Given the description of an element on the screen output the (x, y) to click on. 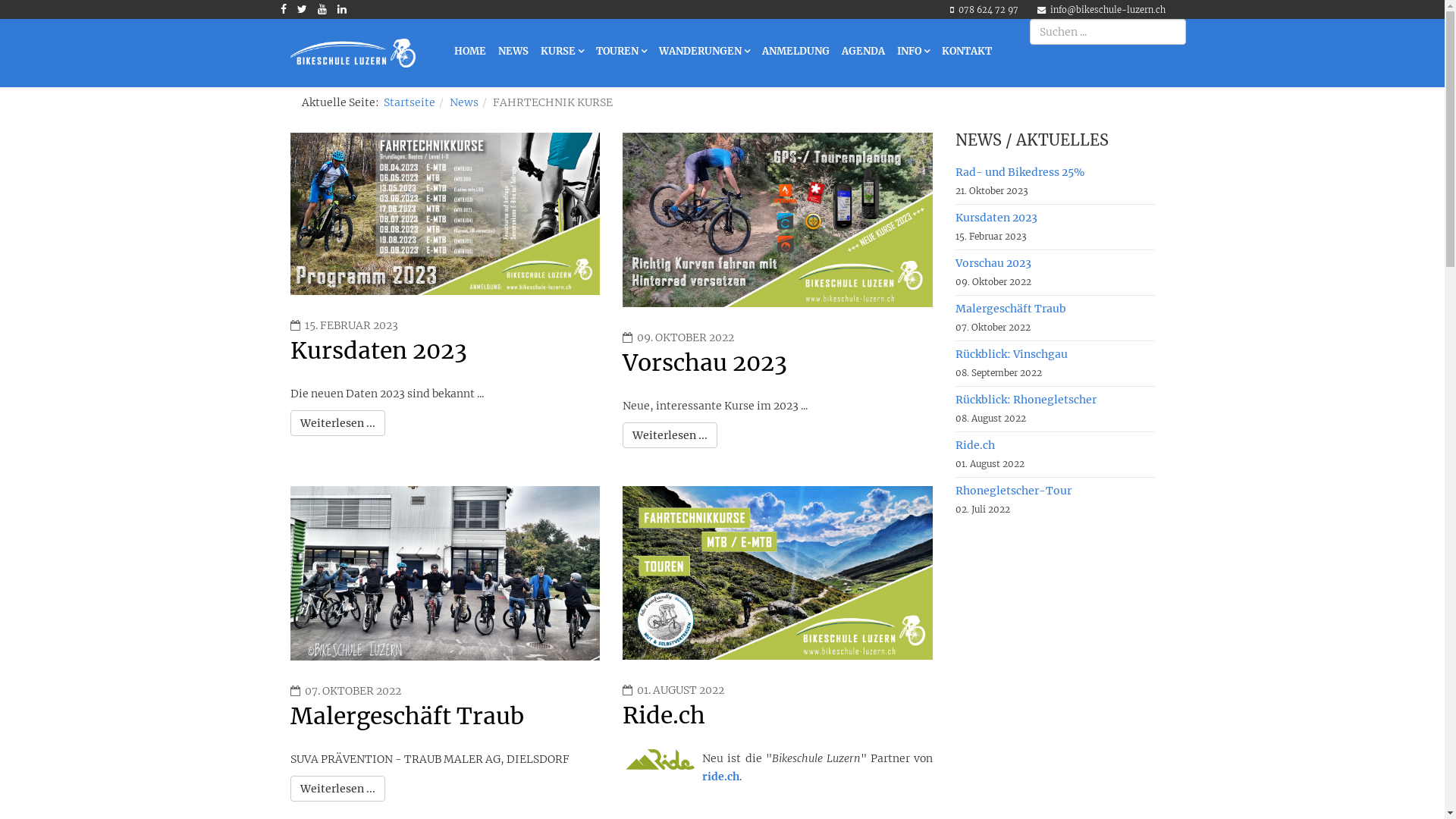
Startseite Element type: text (409, 102)
Weiterlesen ... Element type: text (336, 423)
Ride.ch Element type: text (663, 714)
Rhonegletscher-Tour Element type: text (1054, 490)
Kursdaten 2023 Element type: text (377, 349)
ride.ch Element type: text (720, 776)
KURSE Element type: text (561, 51)
Vorschau 2023 Element type: text (704, 362)
Ride.ch Element type: text (1054, 445)
ANMELDUNG Element type: text (794, 51)
info@bikeschule-luzern.ch Element type: text (1106, 9)
Rad- und Bikedress 25% Element type: text (1054, 172)
Kursdaten 2023 Element type: text (1054, 217)
INFO Element type: text (912, 51)
NEWS Element type: text (512, 51)
Vorschau 2023 Element type: text (1054, 263)
TOUREN Element type: text (621, 51)
AGENDA Element type: text (863, 51)
News Element type: text (462, 102)
Weiterlesen ... Element type: text (336, 788)
078 624 72 97 Element type: text (988, 9)
Weiterlesen ... Element type: text (669, 435)
HOME Element type: text (468, 51)
WANDERUNGEN Element type: text (703, 51)
KONTAKT Element type: text (966, 51)
